Given the description of an element on the screen output the (x, y) to click on. 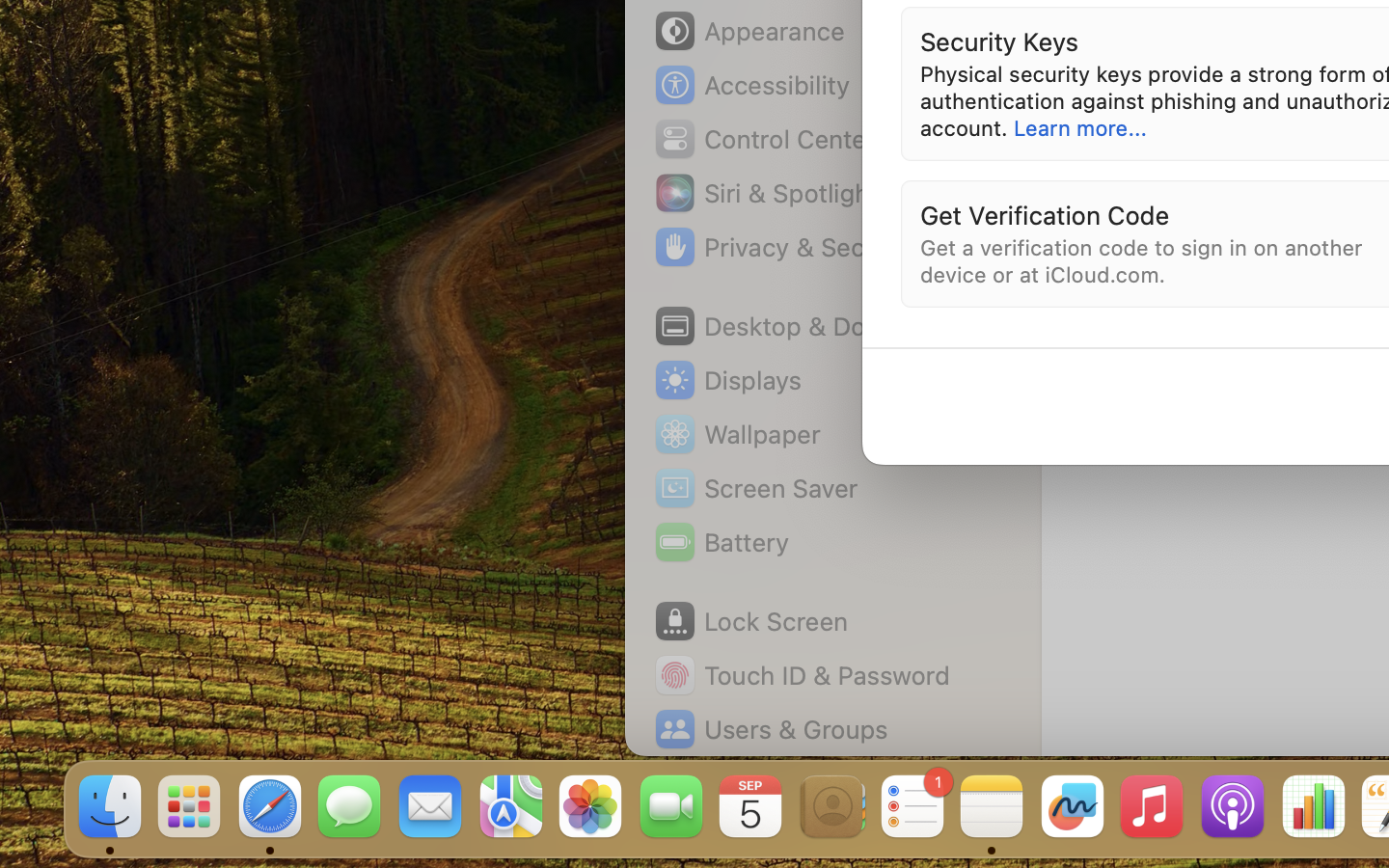
Users & Groups Element type: AXStaticText (769, 728)
